Given the description of an element on the screen output the (x, y) to click on. 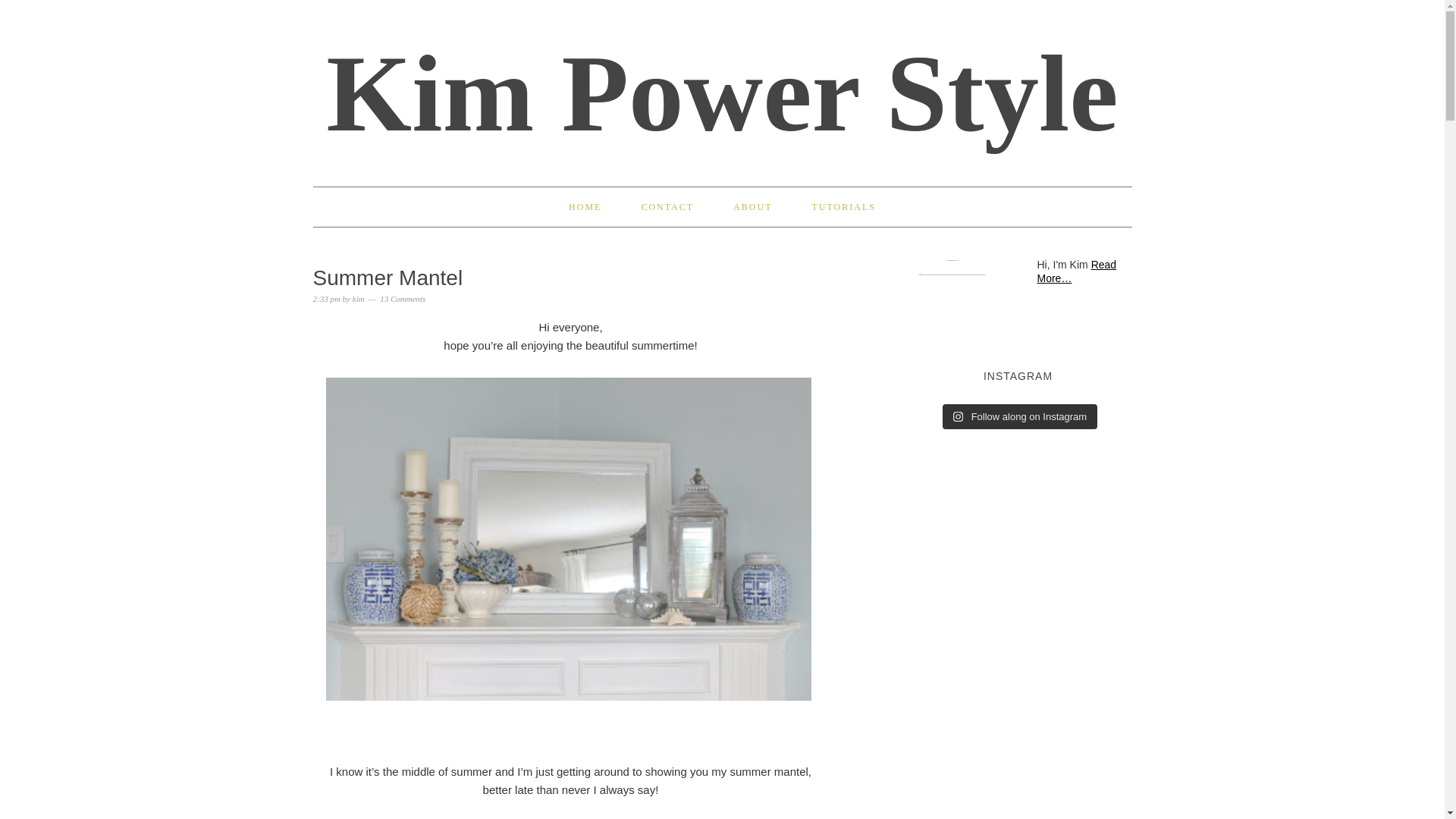
TUTORIALS (842, 206)
kim (358, 298)
Kim Power Style (722, 92)
CONTACT (667, 206)
HOME (585, 206)
ABOUT (752, 206)
13 Comments (402, 298)
